Given the description of an element on the screen output the (x, y) to click on. 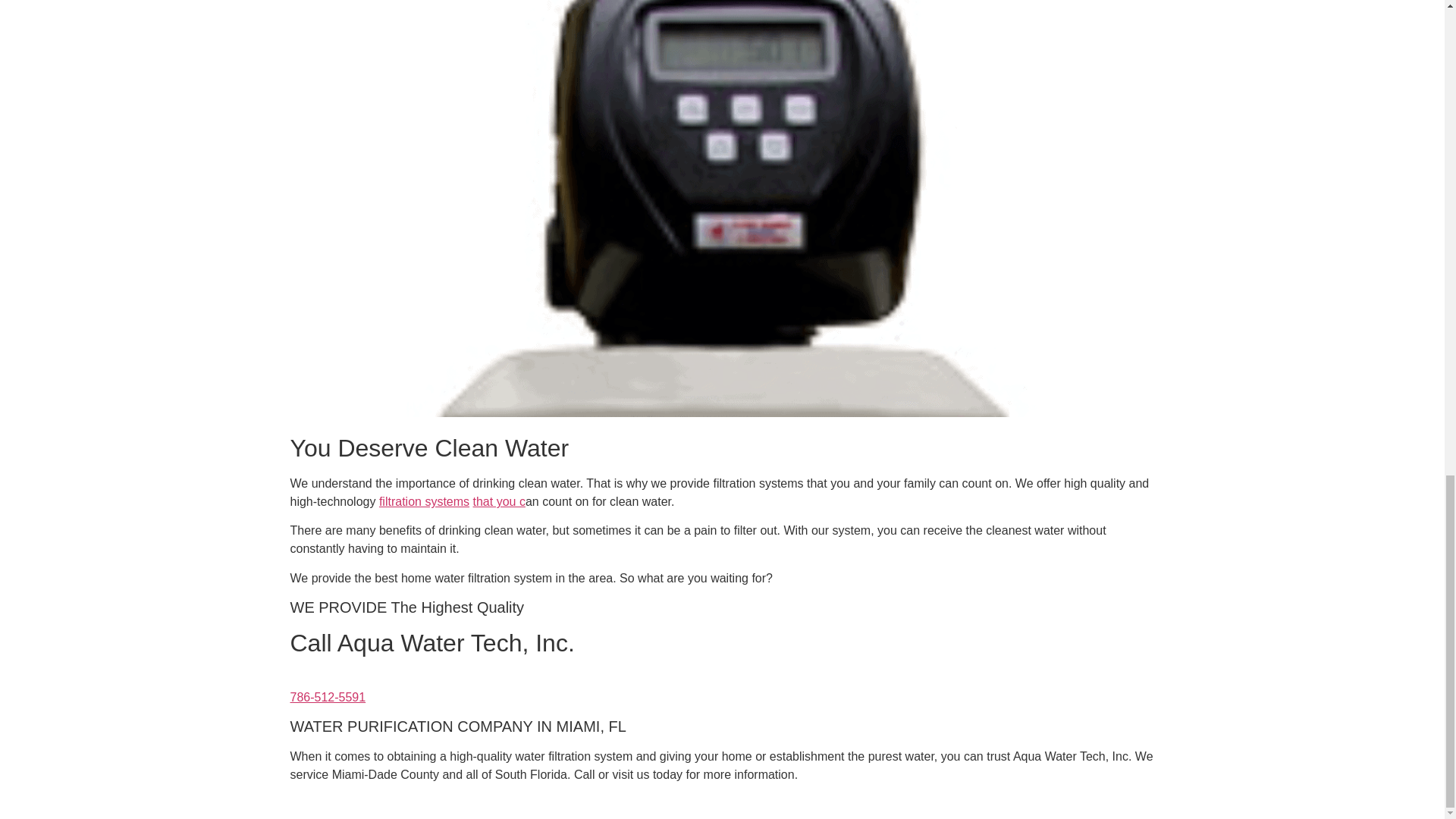
that you c (499, 501)
786-512-5591 (327, 706)
filtration systems (423, 501)
